Given the description of an element on the screen output the (x, y) to click on. 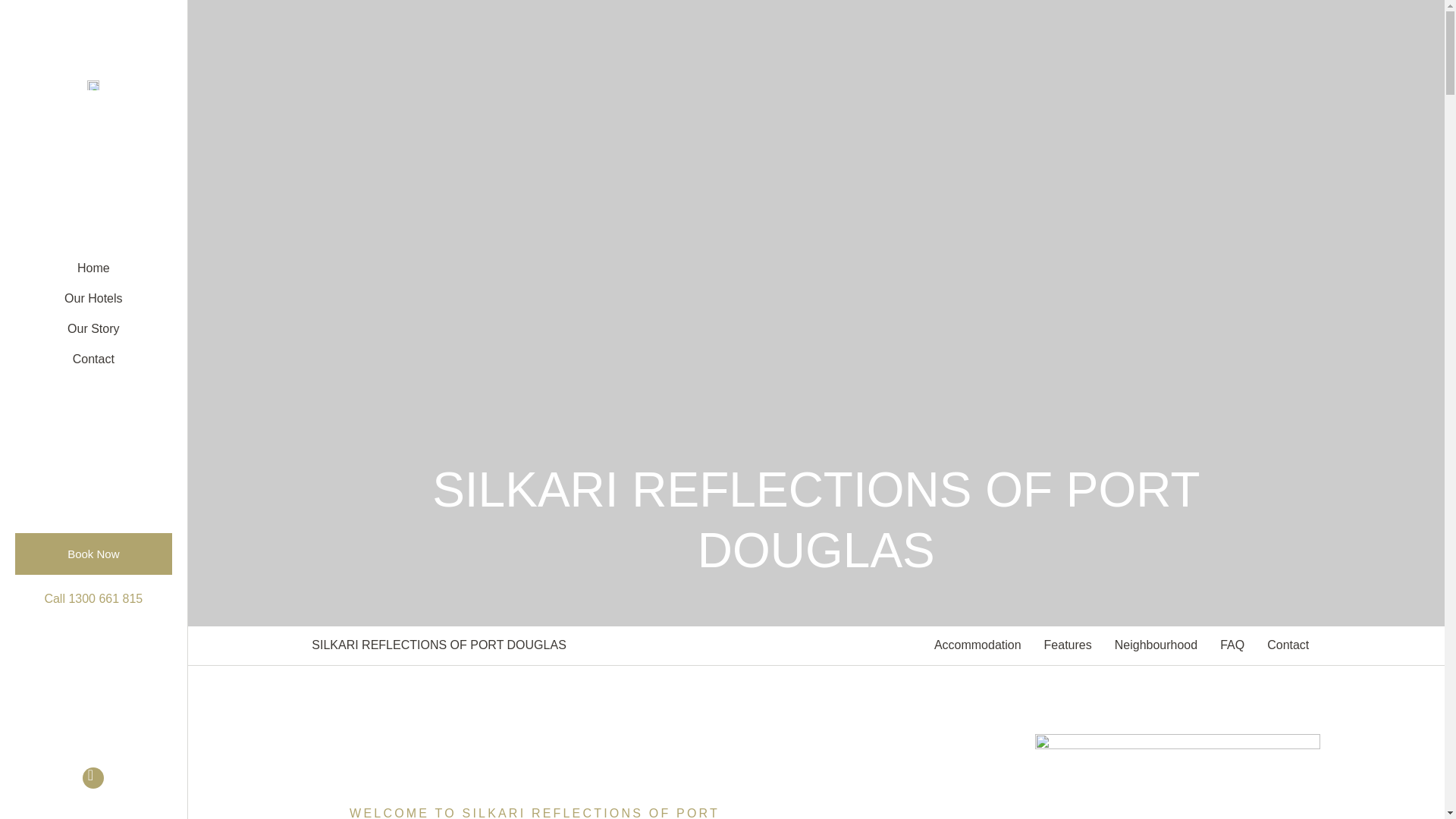
1300 661 815 (105, 598)
Book Now (92, 553)
Contact (1287, 645)
FAQ (1231, 645)
Our Story (92, 328)
Our Hotels (92, 298)
Neighbourhood (1155, 645)
Home (92, 268)
Contact (92, 358)
Features (1067, 645)
Accommodation (977, 645)
